Given the description of an element on the screen output the (x, y) to click on. 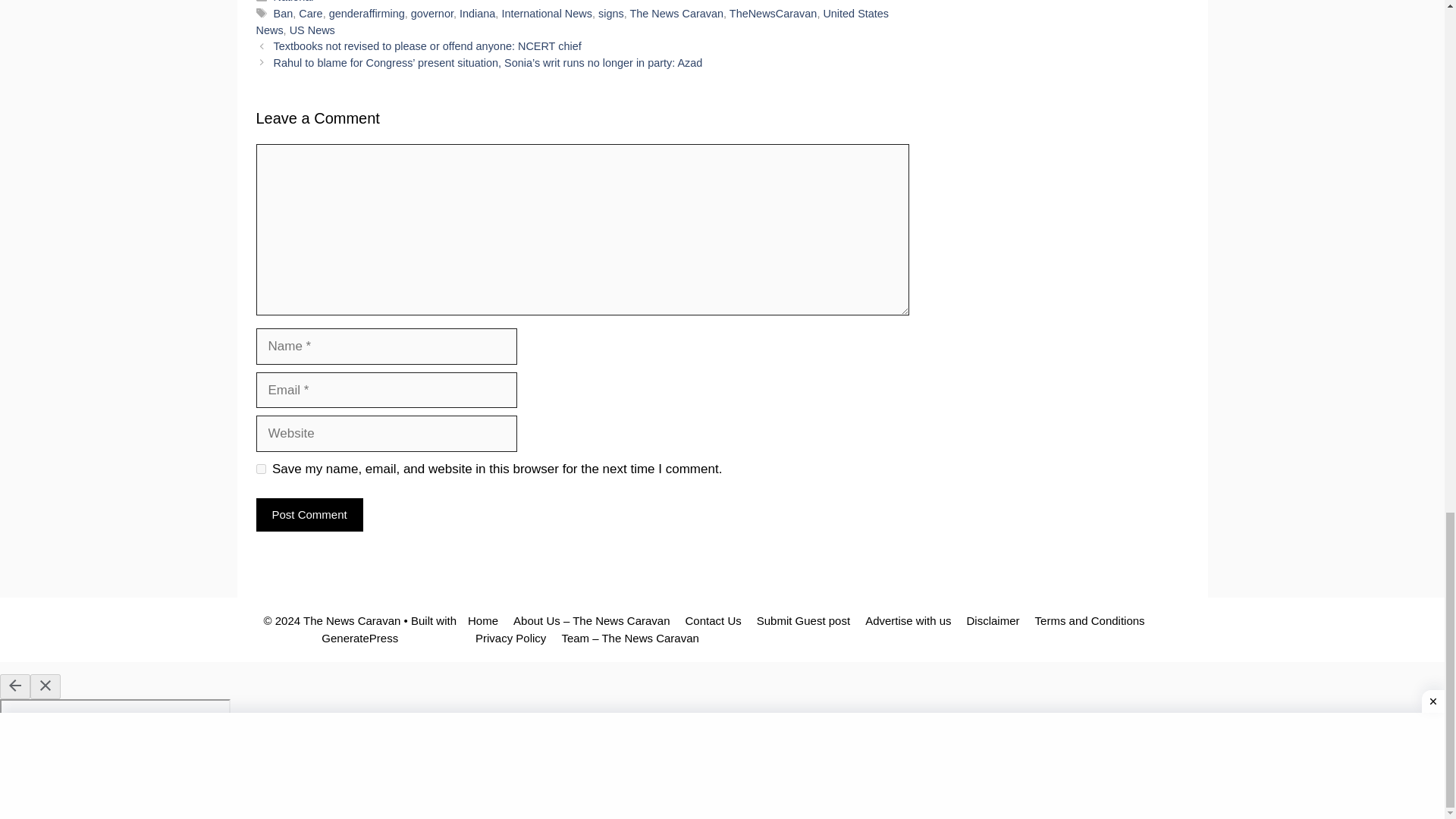
yes (261, 469)
Contact Us (713, 620)
genderaffirming (366, 13)
TheNewsCaravan (772, 13)
Post Comment (309, 514)
Terms and Conditions (1089, 620)
governor (431, 13)
International News (546, 13)
Ban (283, 13)
United States News (572, 21)
Care (309, 13)
The News Caravan (675, 13)
Submit Guest post (803, 620)
Disclaimer (993, 620)
